Given the description of an element on the screen output the (x, y) to click on. 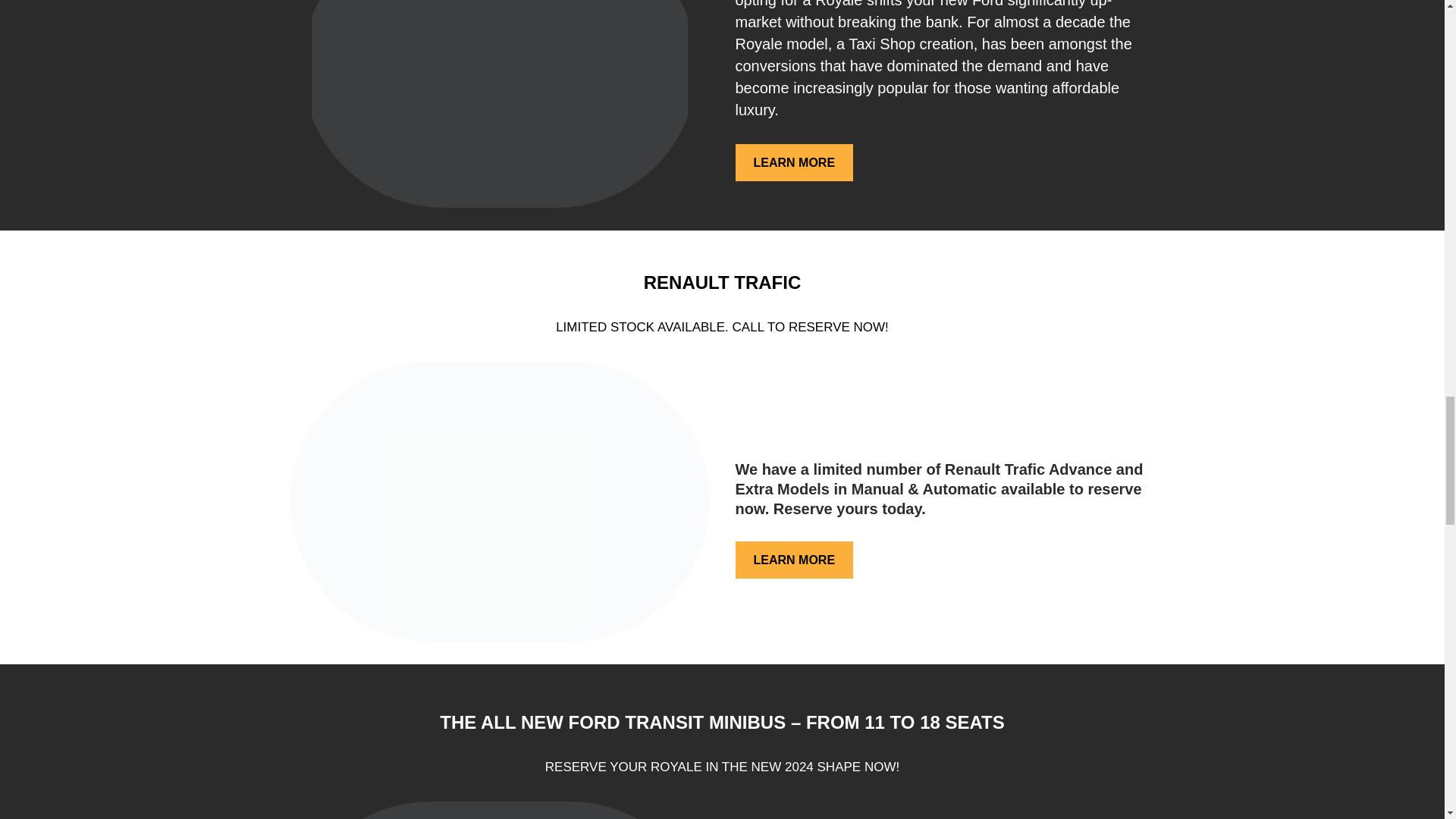
LEARN MORE (794, 162)
